Given the description of an element on the screen output the (x, y) to click on. 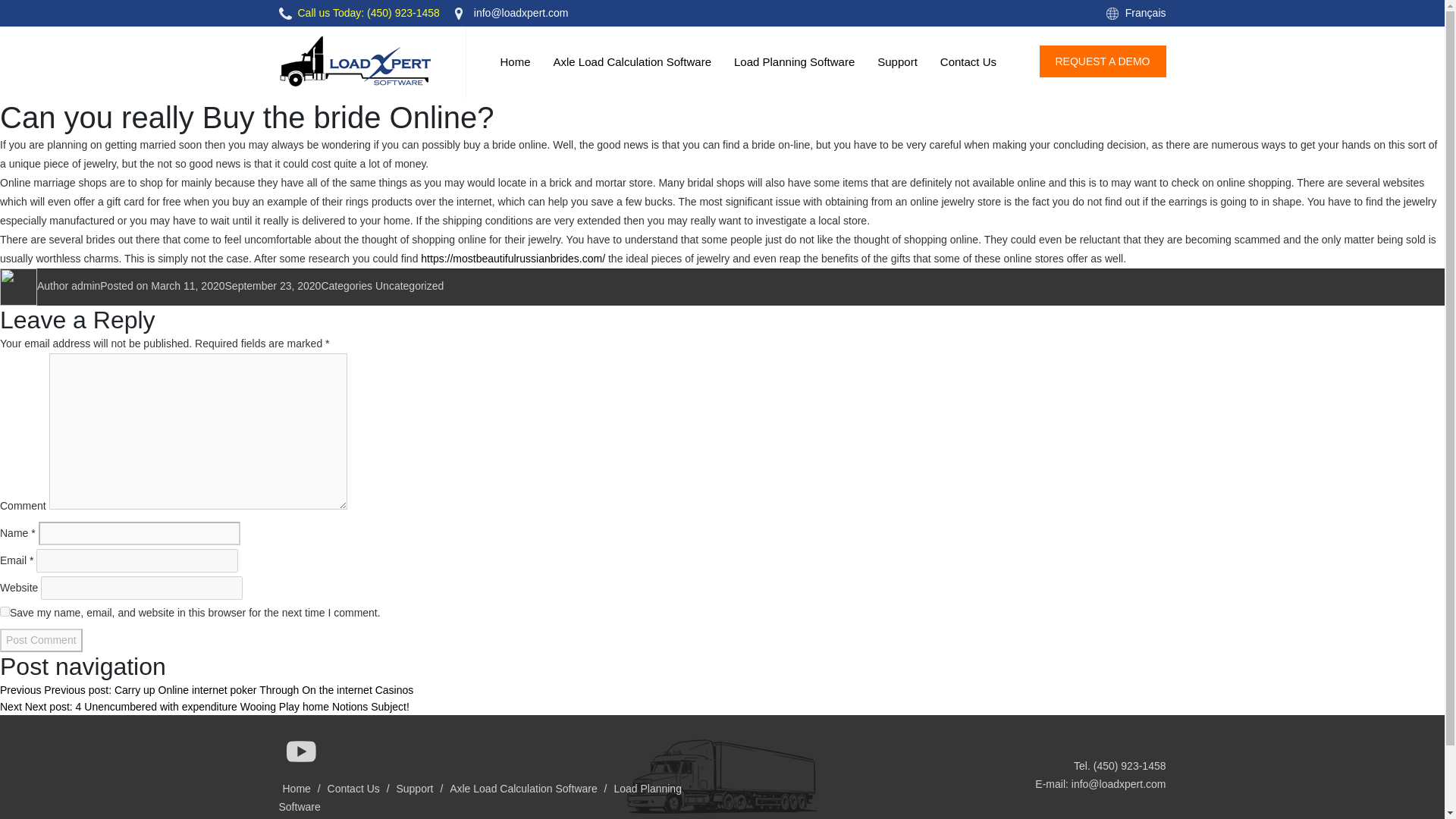
Post Comment (41, 639)
admin (85, 285)
yes (5, 611)
REQUEST A DEMO (1102, 60)
Support (897, 61)
Uncategorized (409, 285)
March 11, 2020September 23, 2020 (235, 285)
Load Xpert (354, 61)
Post Comment (41, 639)
